Given the description of an element on the screen output the (x, y) to click on. 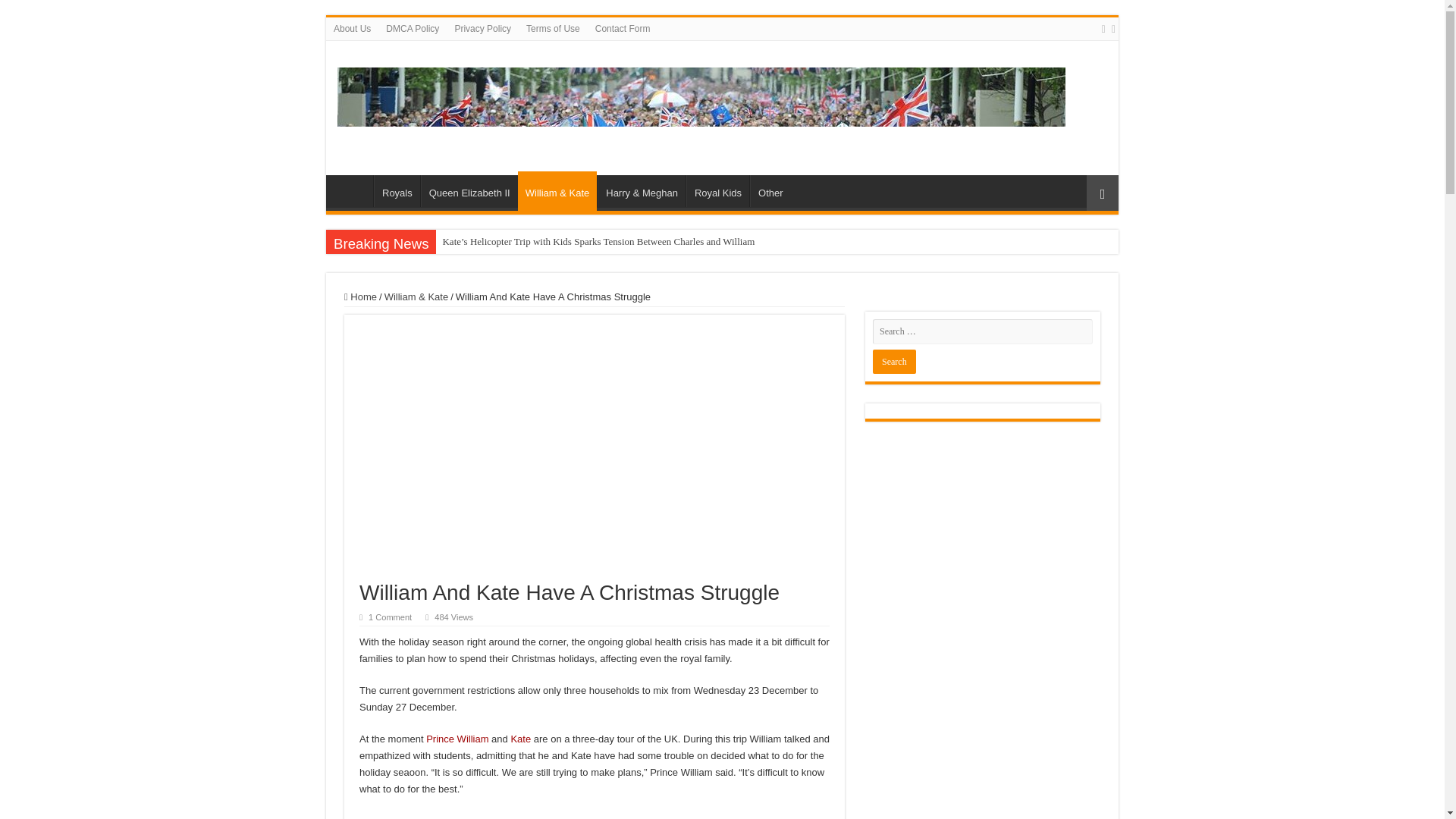
About Us (352, 28)
Contact Form (623, 28)
Search (893, 361)
Royal Kids (717, 191)
Home (360, 296)
Search (893, 361)
Terms of Use (553, 28)
Other (769, 191)
Random Article (1102, 192)
Royals (397, 191)
Prince William (456, 738)
Queen Elizabeth II (469, 191)
Privacy Policy (482, 28)
Home (352, 191)
DMCA Policy (412, 28)
